Given the description of an element on the screen output the (x, y) to click on. 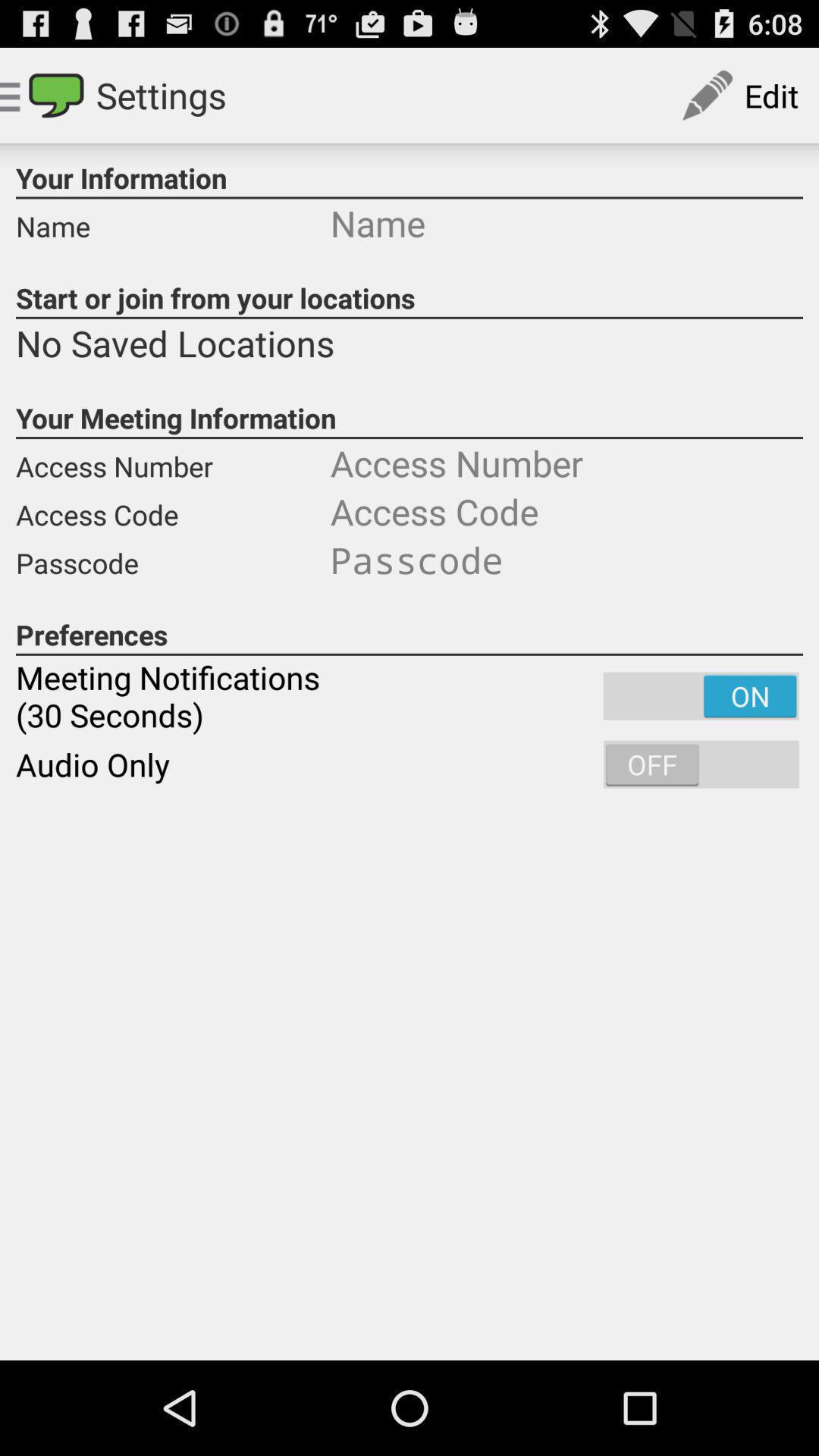
open edit button (739, 95)
